Given the description of an element on the screen output the (x, y) to click on. 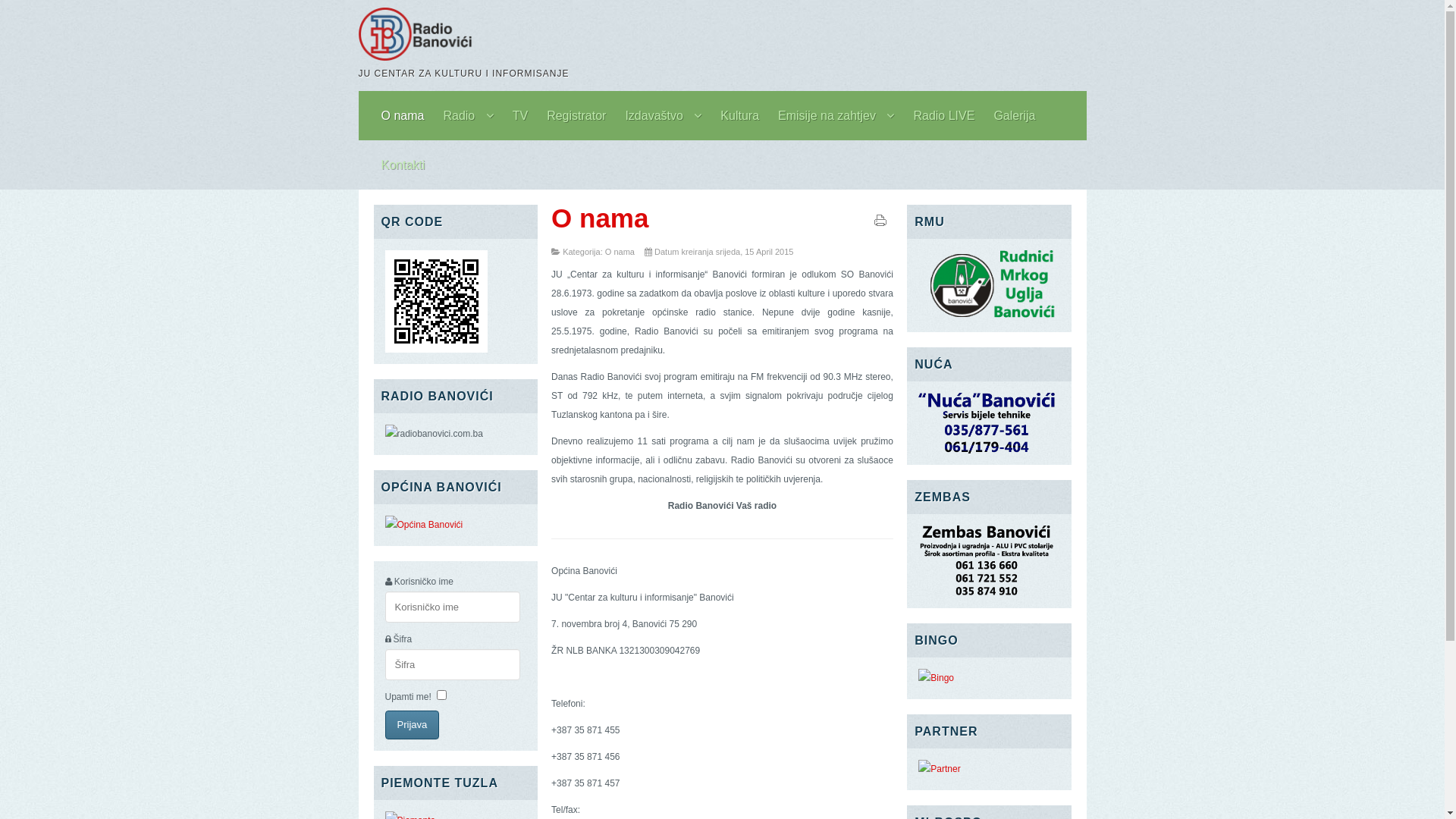
Kultura Element type: text (739, 115)
Kontakti Element type: text (402, 164)
Radio LIVE Element type: text (943, 115)
Bingo Element type: hover (935, 677)
Radio Element type: text (467, 115)
QR code Element type: hover (436, 349)
Galerija Element type: text (1013, 115)
Registrator Element type: text (576, 115)
Emisije na zahtjev Element type: text (835, 115)
RMU Element type: hover (988, 317)
O nama Element type: text (402, 115)
TV Element type: text (520, 115)
Prijava Element type: text (412, 724)
Partner Element type: hover (939, 768)
